Given the description of an element on the screen output the (x, y) to click on. 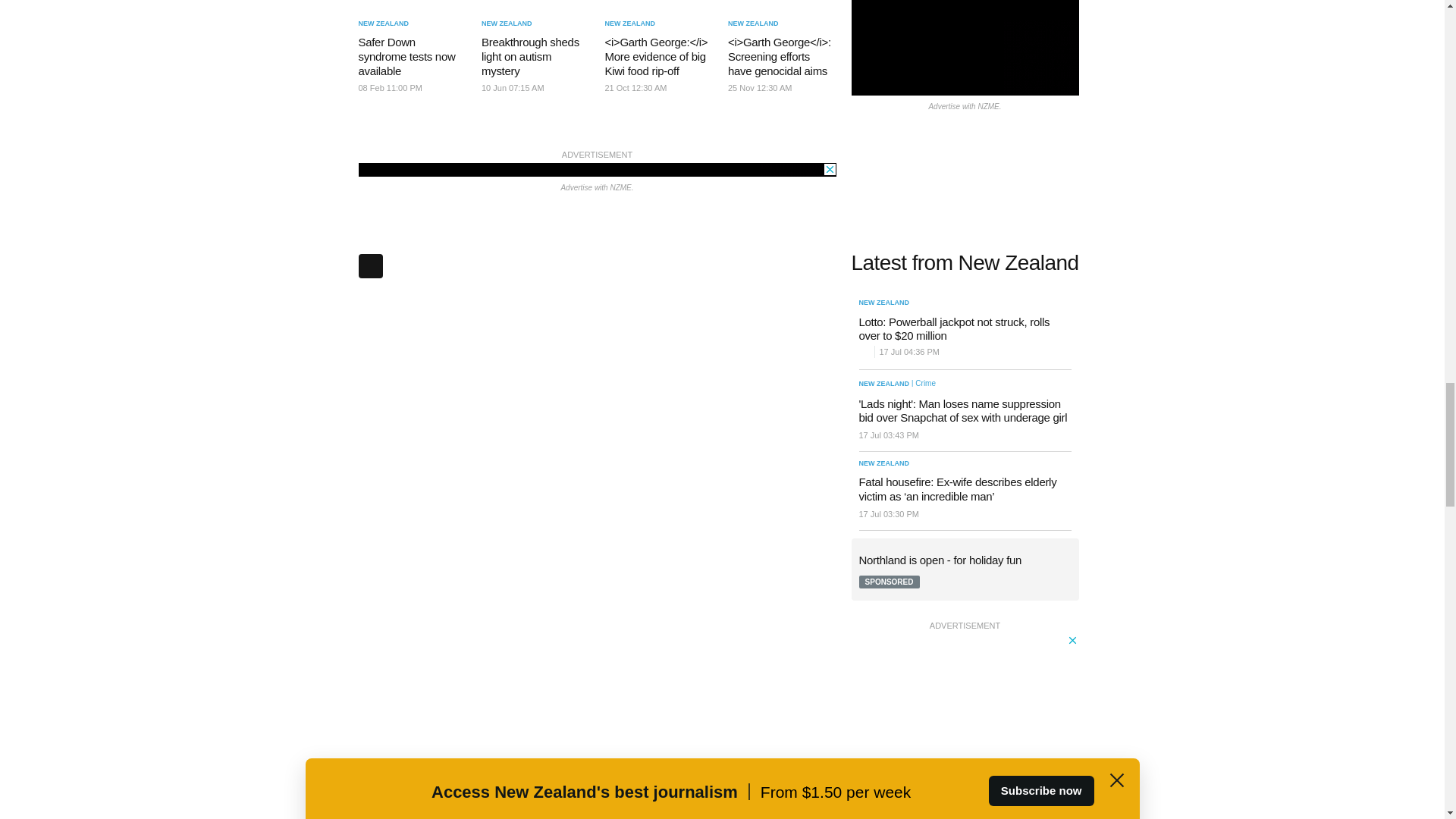
3rd party ad content (596, 169)
3rd party ad content (964, 726)
